Given the description of an element on the screen output the (x, y) to click on. 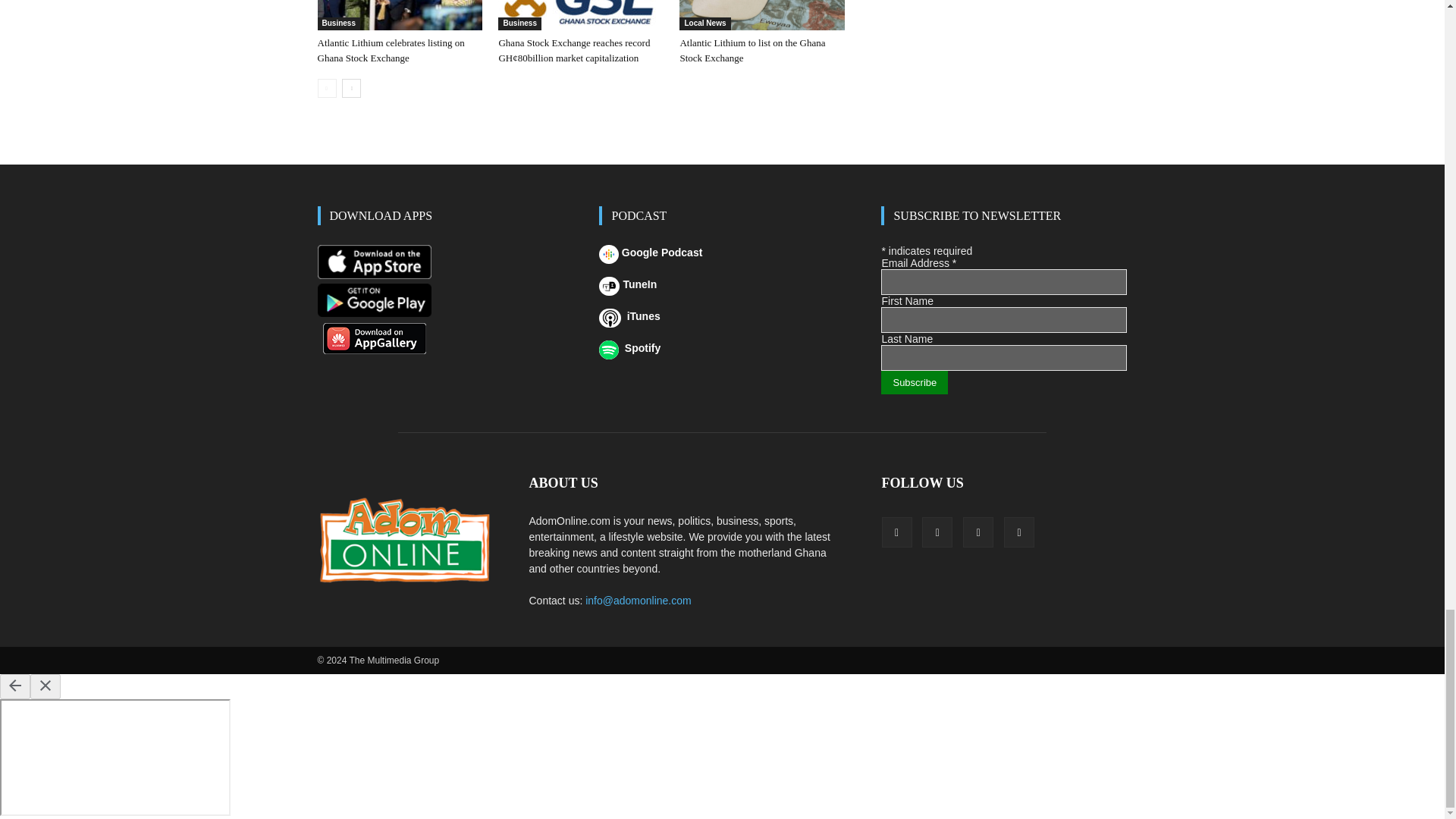
Subscribe (913, 382)
